Given the description of an element on the screen output the (x, y) to click on. 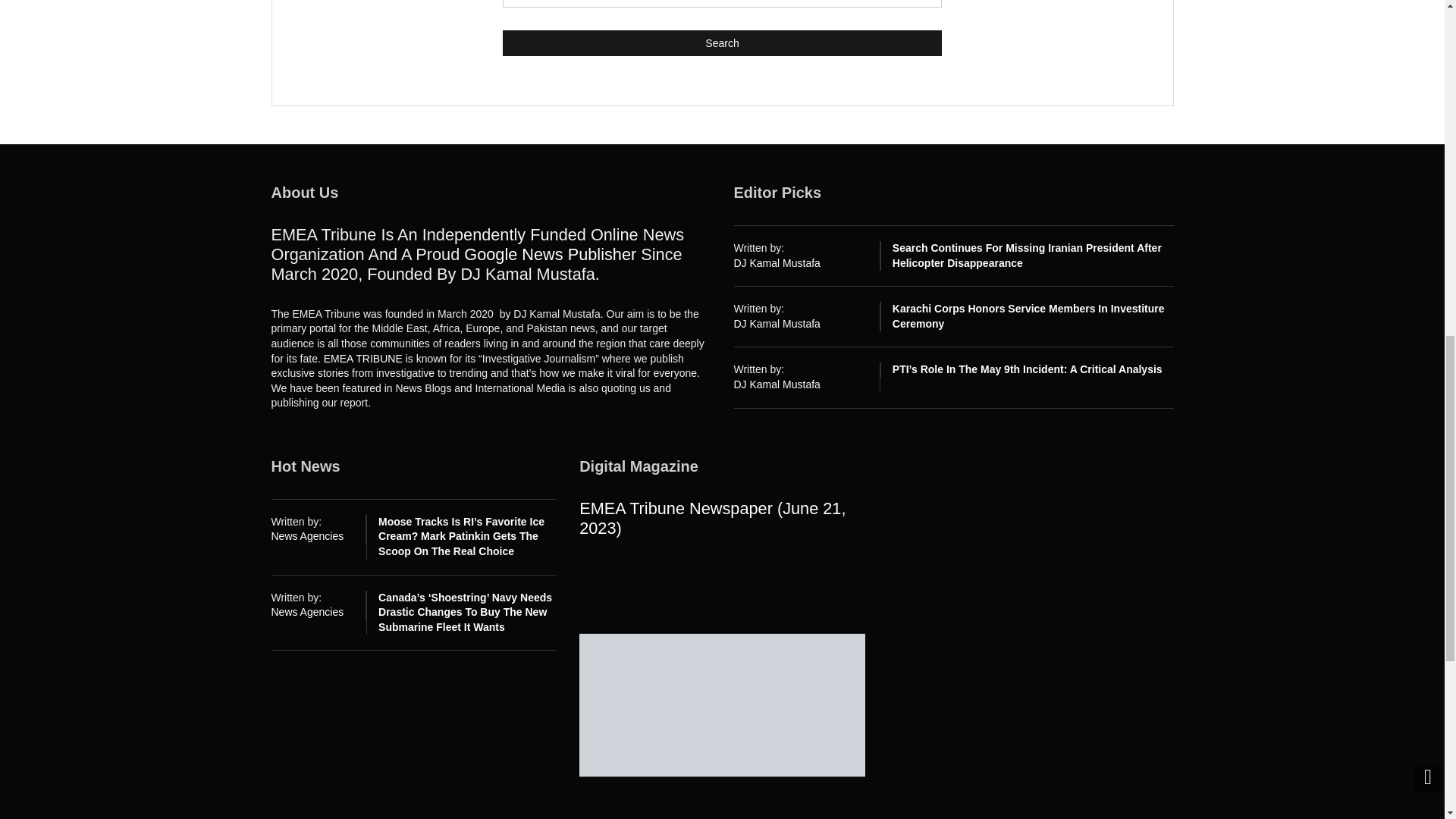
Karachi Corps Honors Service Members in Investiture Ceremony (1028, 316)
Search (722, 43)
Search (722, 43)
